Given the description of an element on the screen output the (x, y) to click on. 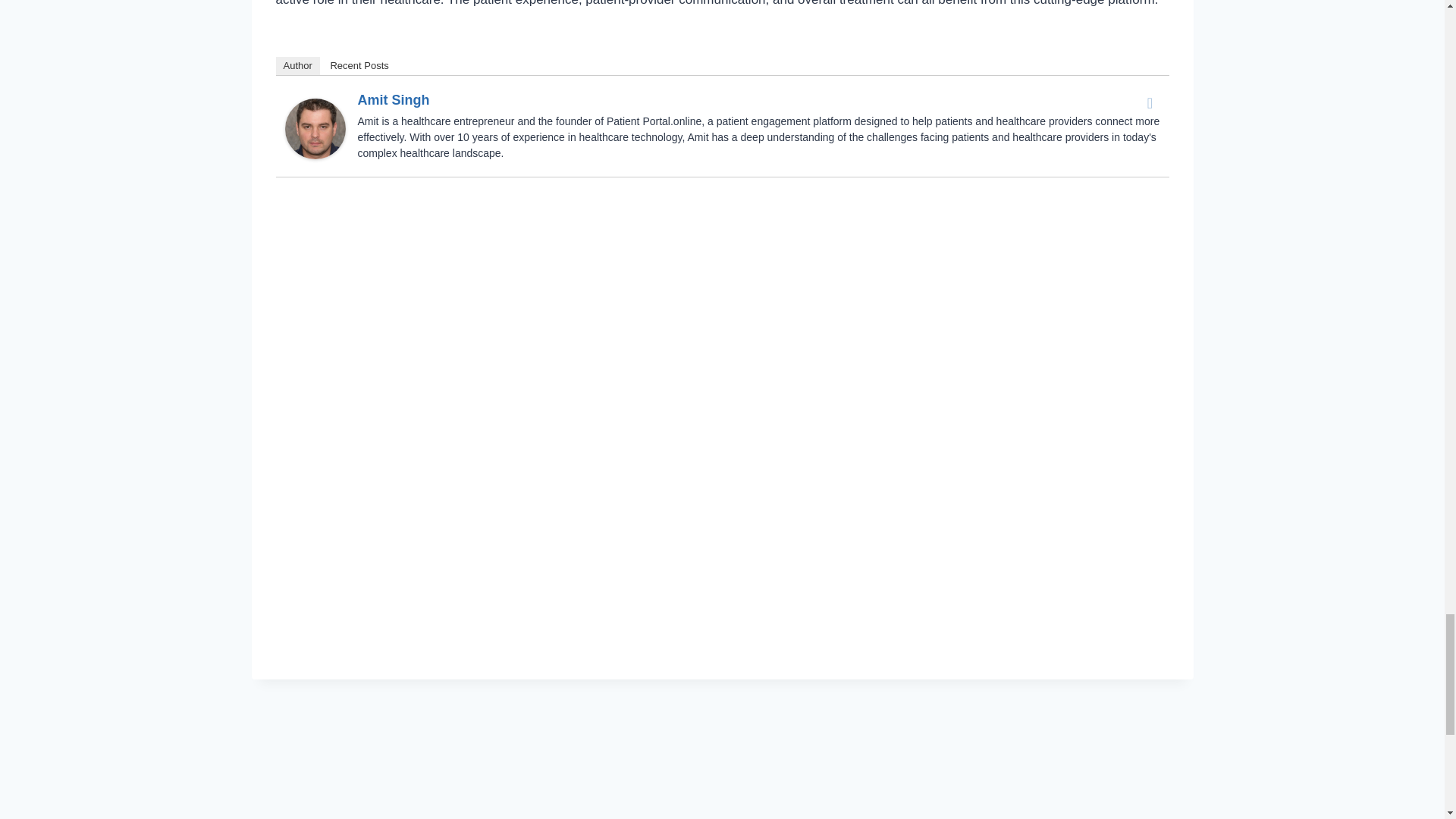
Recent Posts (358, 65)
Author (298, 65)
Amit Singh (393, 99)
Amit Singh (315, 128)
Twitter (1149, 103)
